Given the description of an element on the screen output the (x, y) to click on. 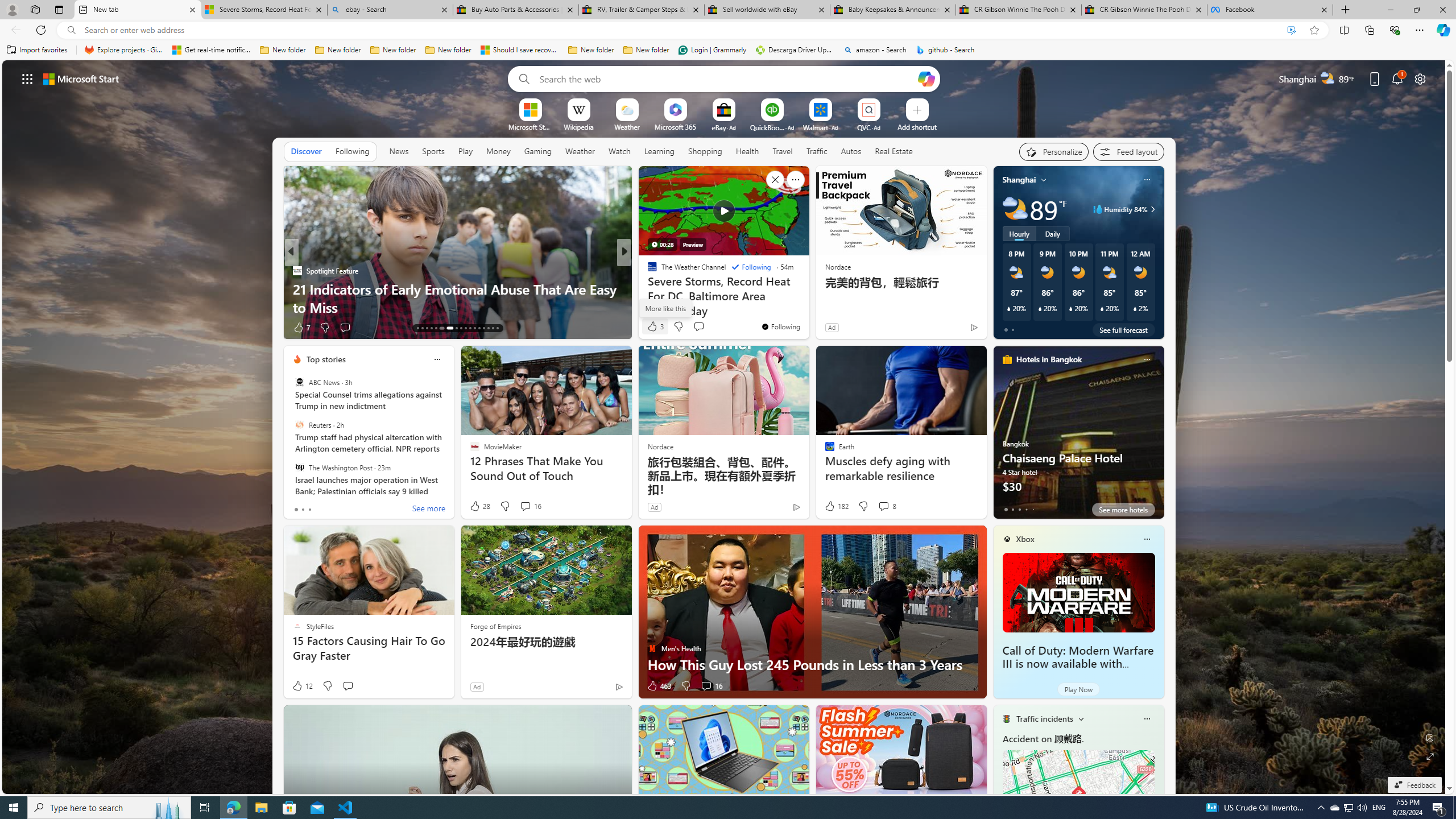
tab-3 (1025, 509)
Edit Background (1430, 737)
Enhance video (1291, 29)
Personalize your feed" (1054, 151)
AutomationID: tab-17 (435, 328)
View comments 16 Comment (705, 685)
Class: weather-current-precipitation-glyph (1134, 308)
Verywell Mind (647, 288)
